Given the description of an element on the screen output the (x, y) to click on. 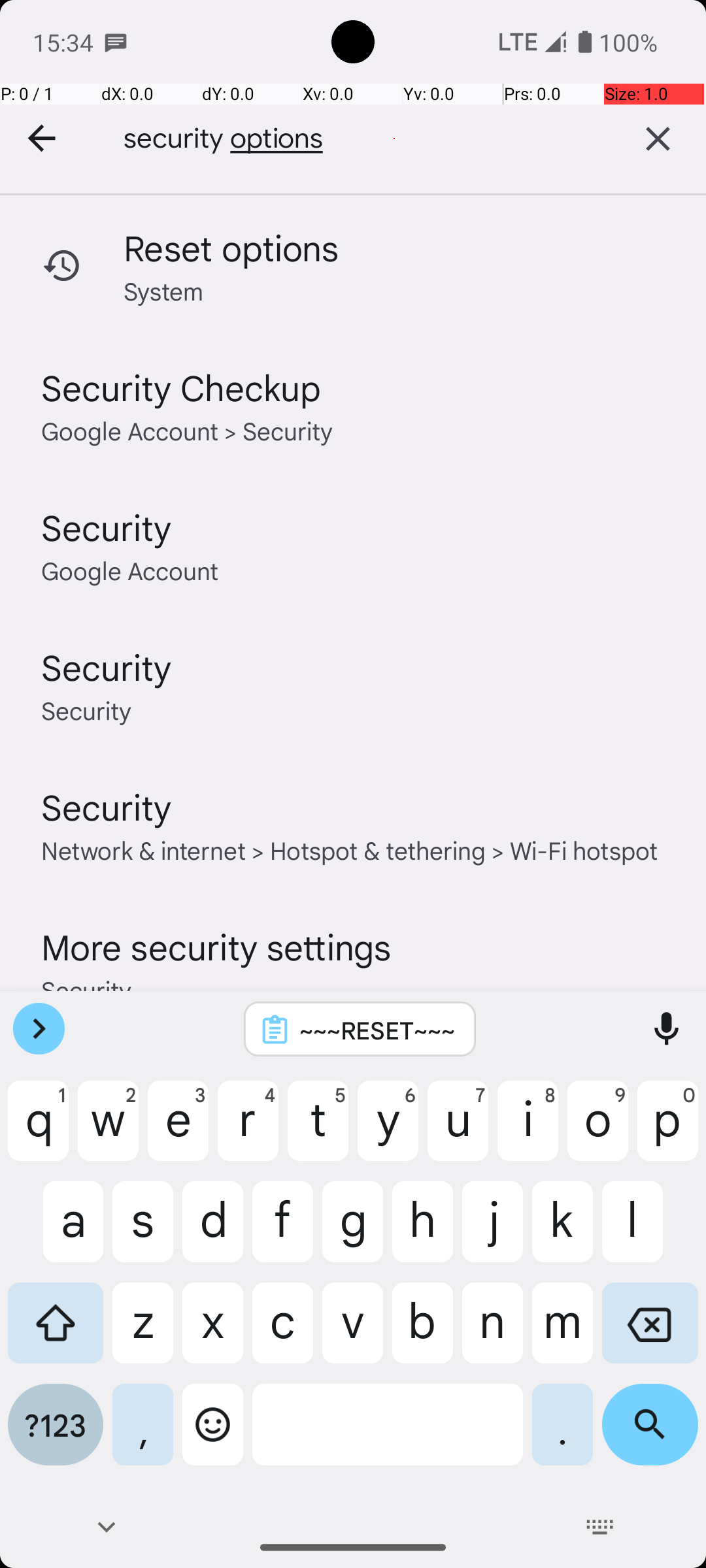
security options Element type: android.widget.EditText (345, 138)
Clear text Element type: android.widget.ImageButton (657, 138)
Reset options Element type: android.widget.TextView (231, 246)
Security Checkup Element type: android.widget.TextView (180, 386)
Google Account > Security Element type: android.widget.TextView (186, 429)
Security Element type: android.widget.TextView (106, 526)
Google Account Element type: android.widget.TextView (129, 569)
Network & internet > Hotspot & tethering > Wi-Fi hotspot Element type: android.widget.TextView (349, 848)
More security settings Element type: android.widget.TextView (216, 945)
